Given the description of an element on the screen output the (x, y) to click on. 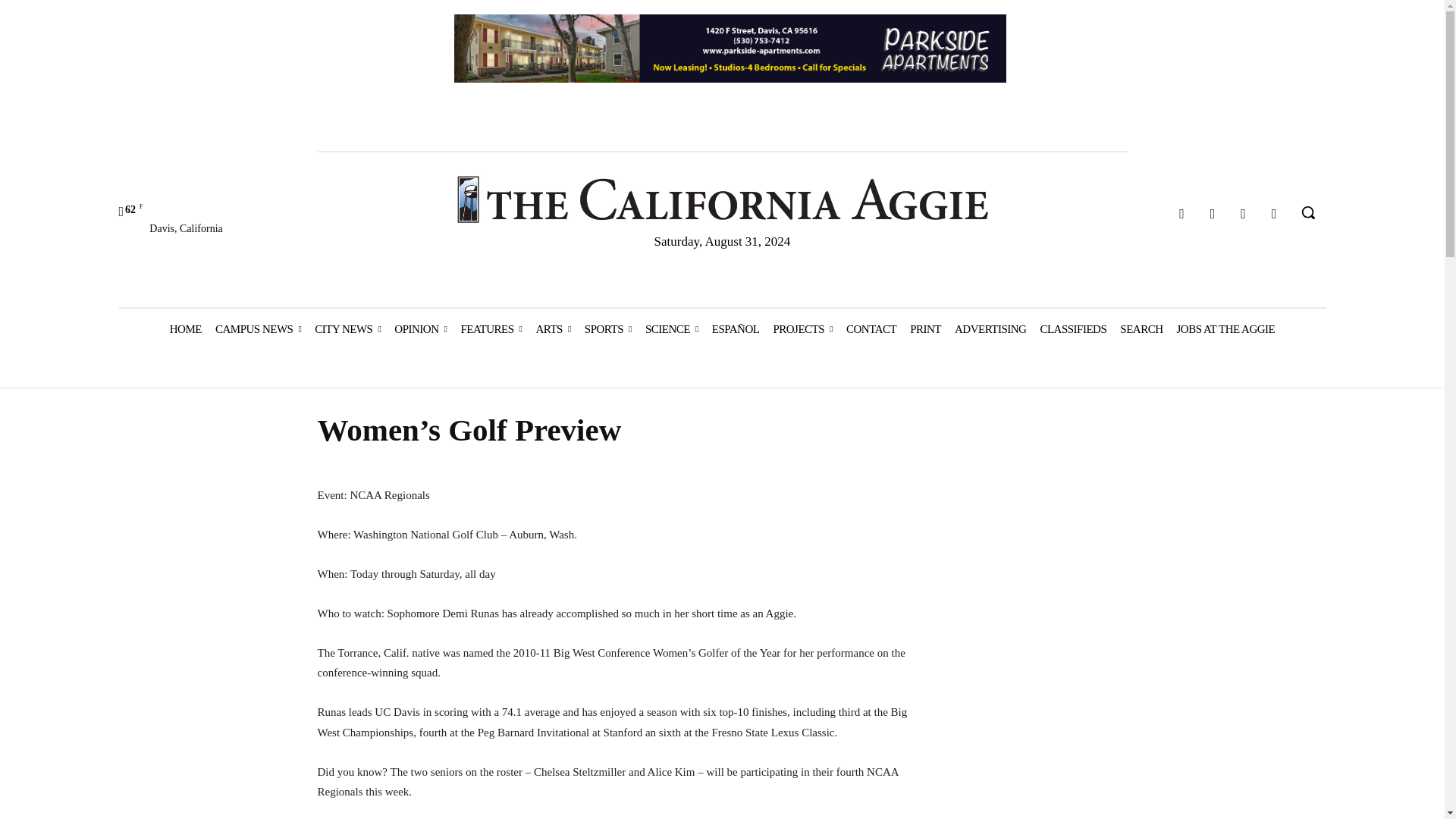
Twitter (1243, 214)
Youtube (1273, 214)
Facebook (1181, 214)
Instagram (1212, 214)
CAMPUS NEWS (257, 329)
HOME (185, 329)
